Given the description of an element on the screen output the (x, y) to click on. 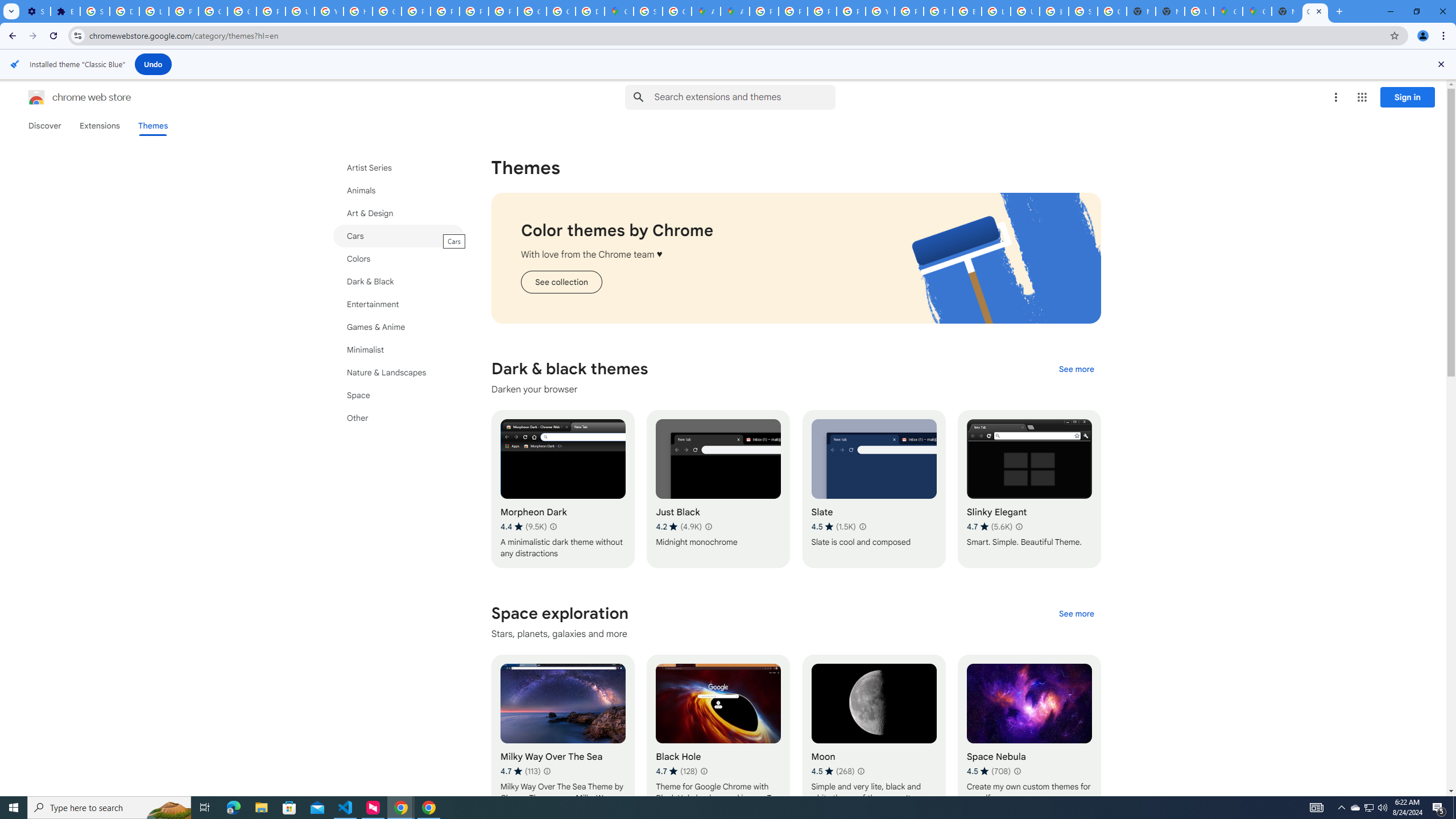
Just Black (718, 489)
Average rating 4.7 out of 5 stars. 128 ratings. (676, 771)
Google Maps (1227, 11)
https://scholar.google.com/ (357, 11)
See more of the "Space exploration" collection (1075, 613)
Undo (153, 64)
Chrome Web Store logo chrome web store (67, 97)
